Given the description of an element on the screen output the (x, y) to click on. 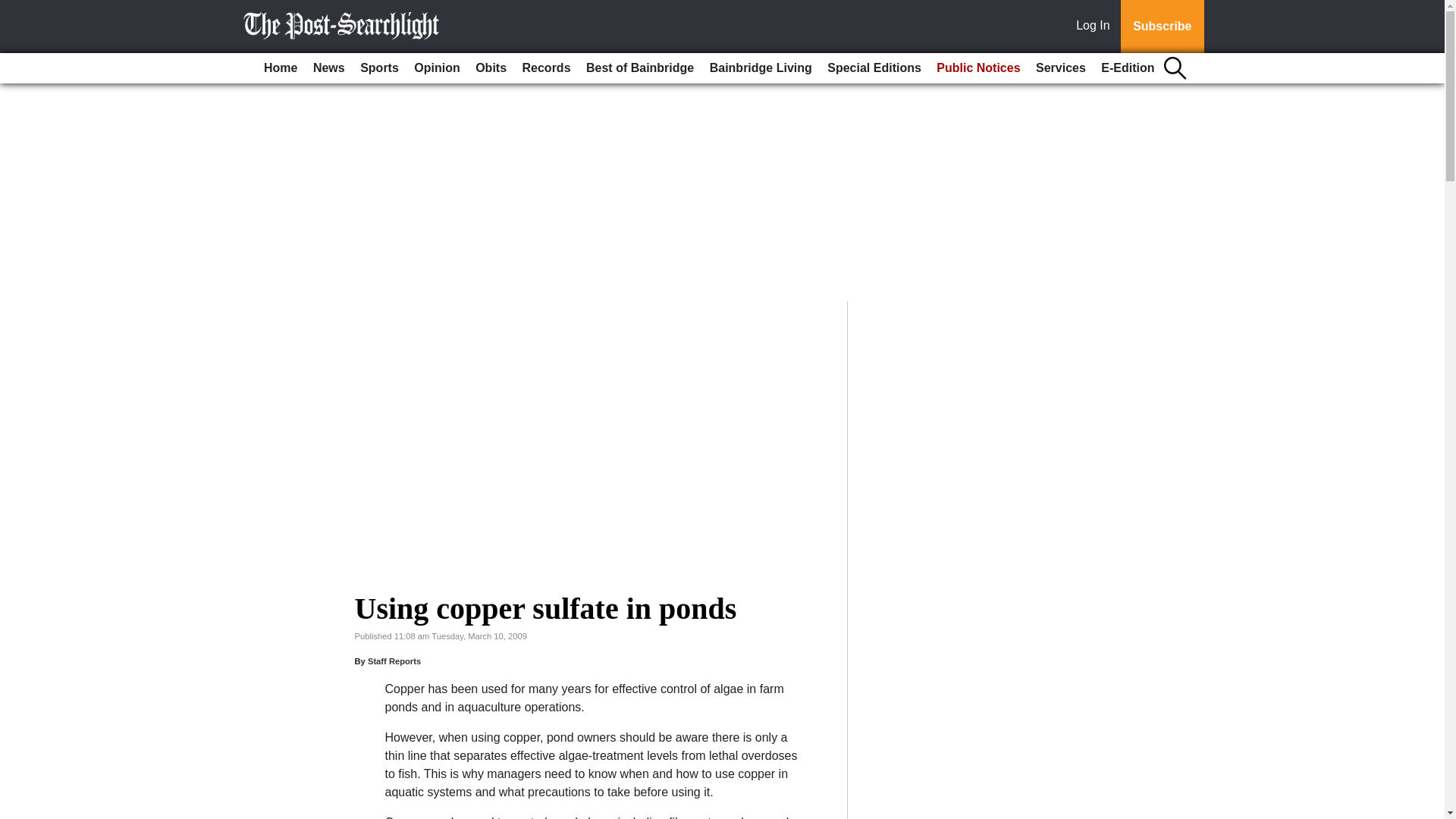
News (328, 68)
Subscribe (1162, 26)
Records (546, 68)
Bainbridge Living (760, 68)
Opinion (436, 68)
Obits (490, 68)
Services (1060, 68)
E-Edition (1127, 68)
Go (13, 9)
Log In (1095, 26)
Public Notices (978, 68)
Home (279, 68)
Staff Reports (394, 660)
Special Editions (874, 68)
Best of Bainbridge (639, 68)
